Given the description of an element on the screen output the (x, y) to click on. 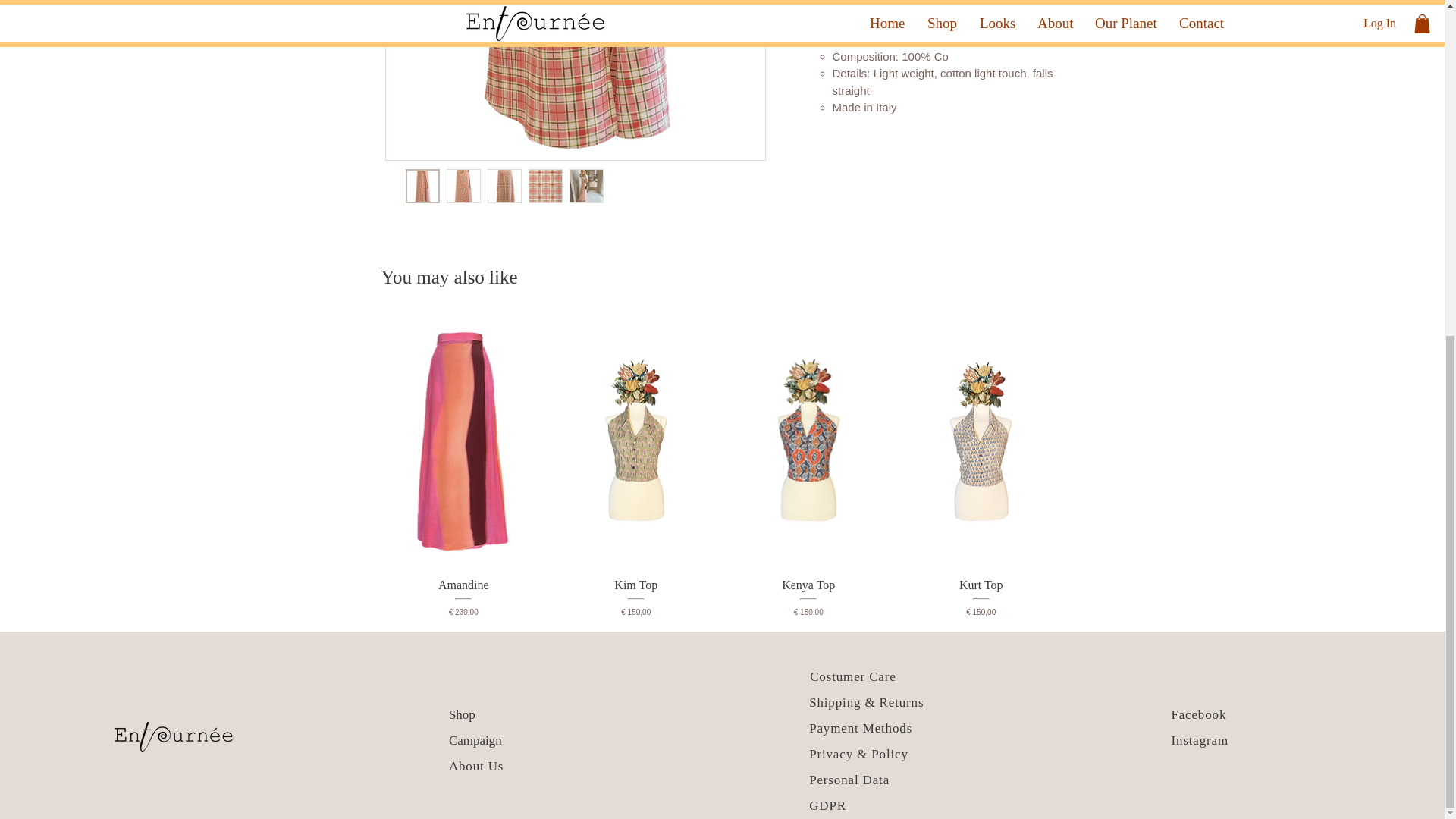
Details (924, 9)
